Given the description of an element on the screen output the (x, y) to click on. 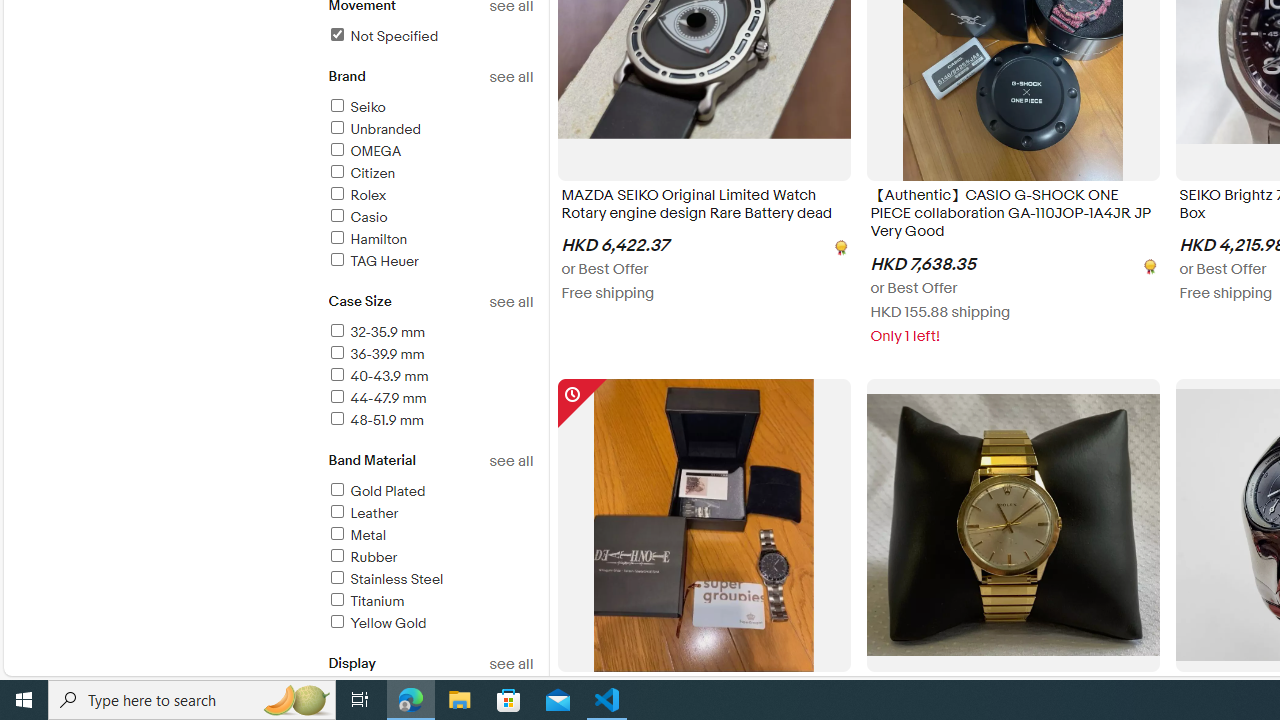
Leather (362, 513)
Unbranded (430, 129)
[object Undefined] (1147, 264)
Metal (430, 536)
Rolex (356, 195)
Leather (430, 514)
Seiko (356, 107)
Metal (356, 535)
40-43.9 mm (430, 377)
Yellow Gold (430, 624)
Rubber (430, 558)
Titanium (430, 602)
Rubber (362, 556)
Rolex (430, 196)
